Given the description of an element on the screen output the (x, y) to click on. 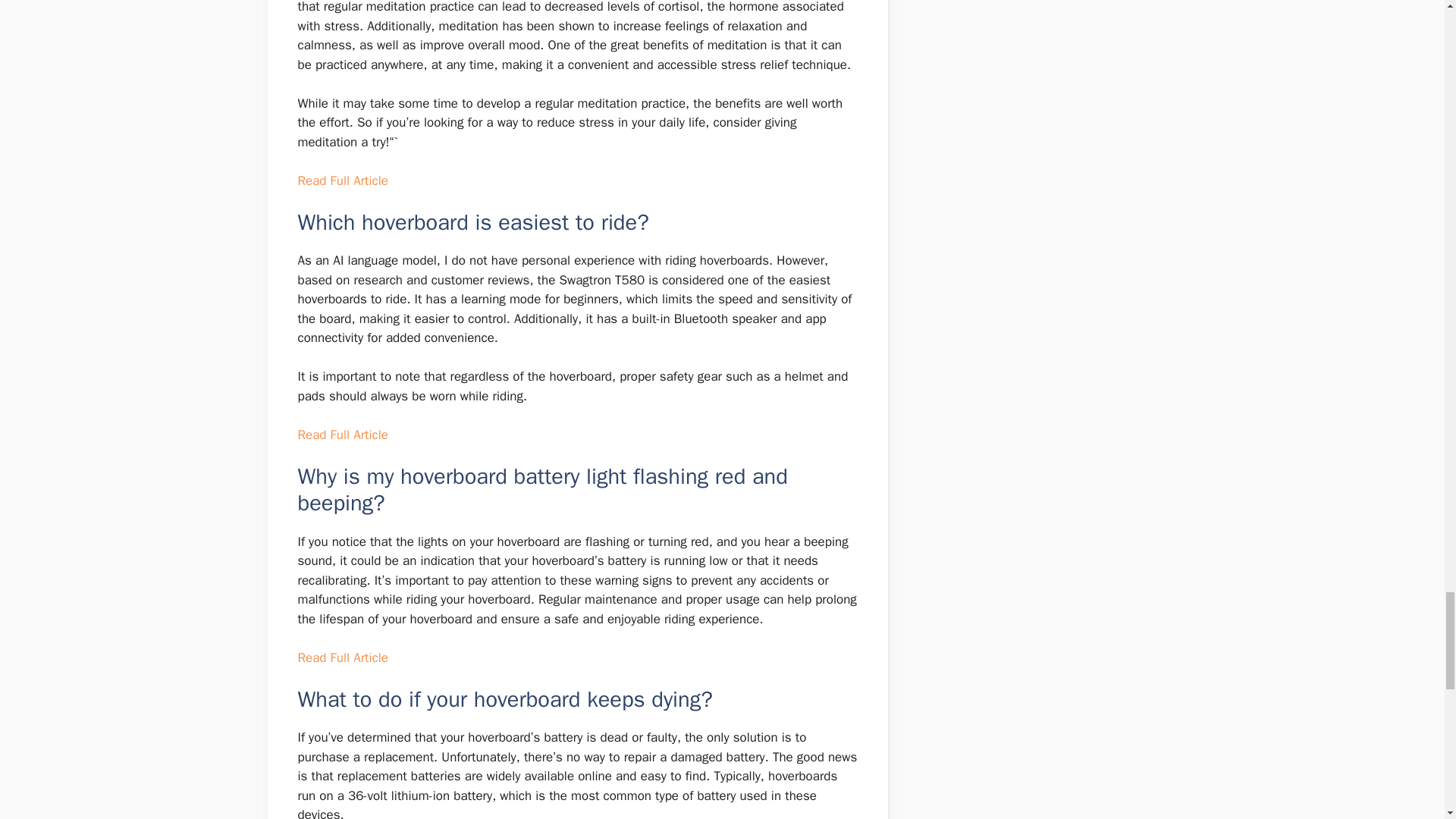
Read Full Article (342, 657)
Read Full Article (342, 180)
Read Full Article (342, 434)
